Given the description of an element on the screen output the (x, y) to click on. 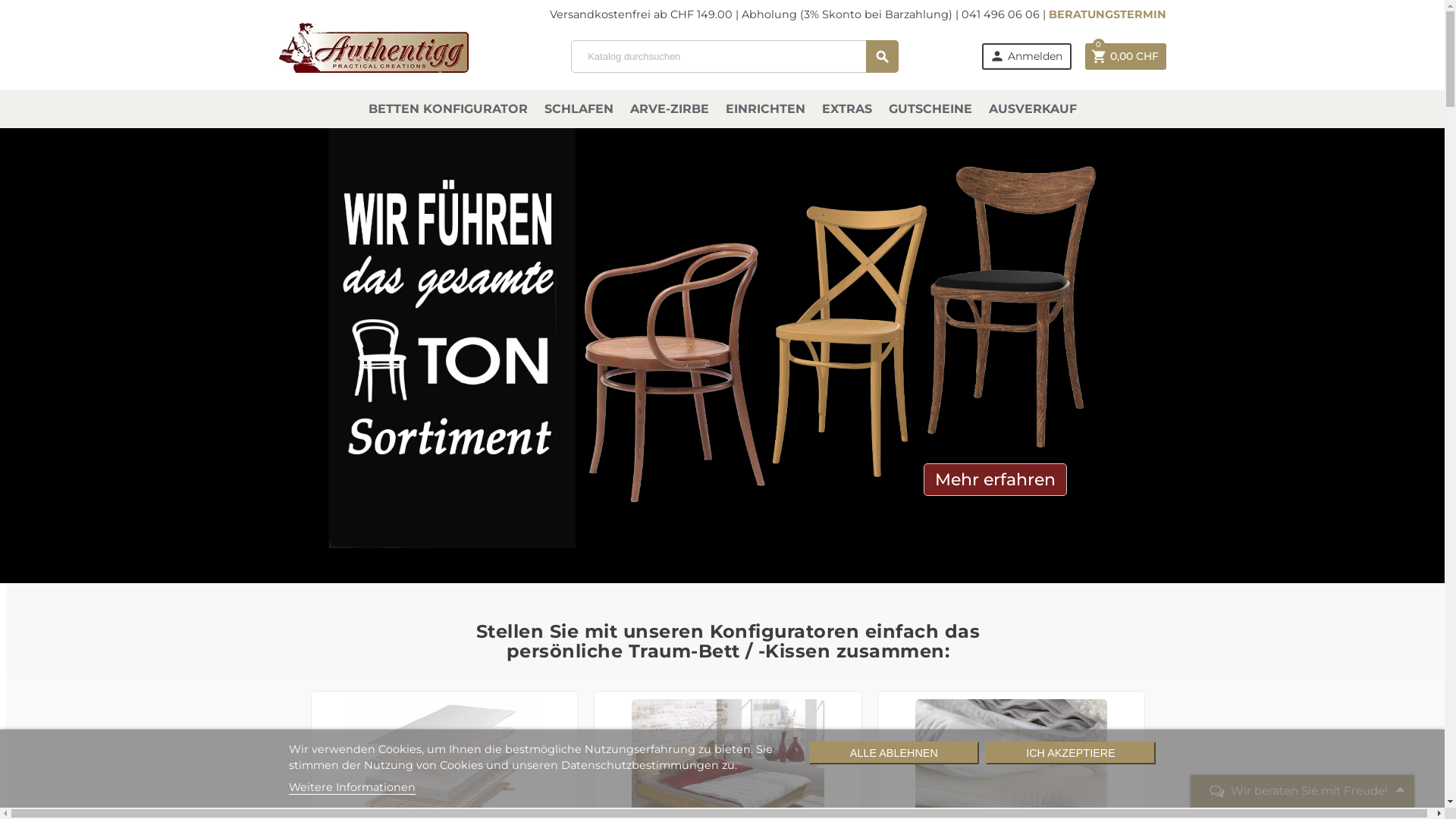
ALLE ABLEHNEN Element type: text (894, 752)
BETTEN KONFIGURATOR Element type: text (447, 109)
GUTSCHEINE Element type: text (930, 109)
AUSVERKAUF Element type: text (1032, 109)
EXTRAS Element type: text (846, 109)
SCHLAFEN Element type: text (578, 109)
EINRICHTEN Element type: text (764, 109)
ICH AKZEPTIERE Element type: text (1070, 752)
ARVE-ZIRBE Element type: text (668, 109)
BERATUNGSTERMIN Element type: text (1106, 14)
Authentigg GmbH Element type: hover (373, 43)
Weitere Informationen Element type: text (351, 787)
